Given the description of an element on the screen output the (x, y) to click on. 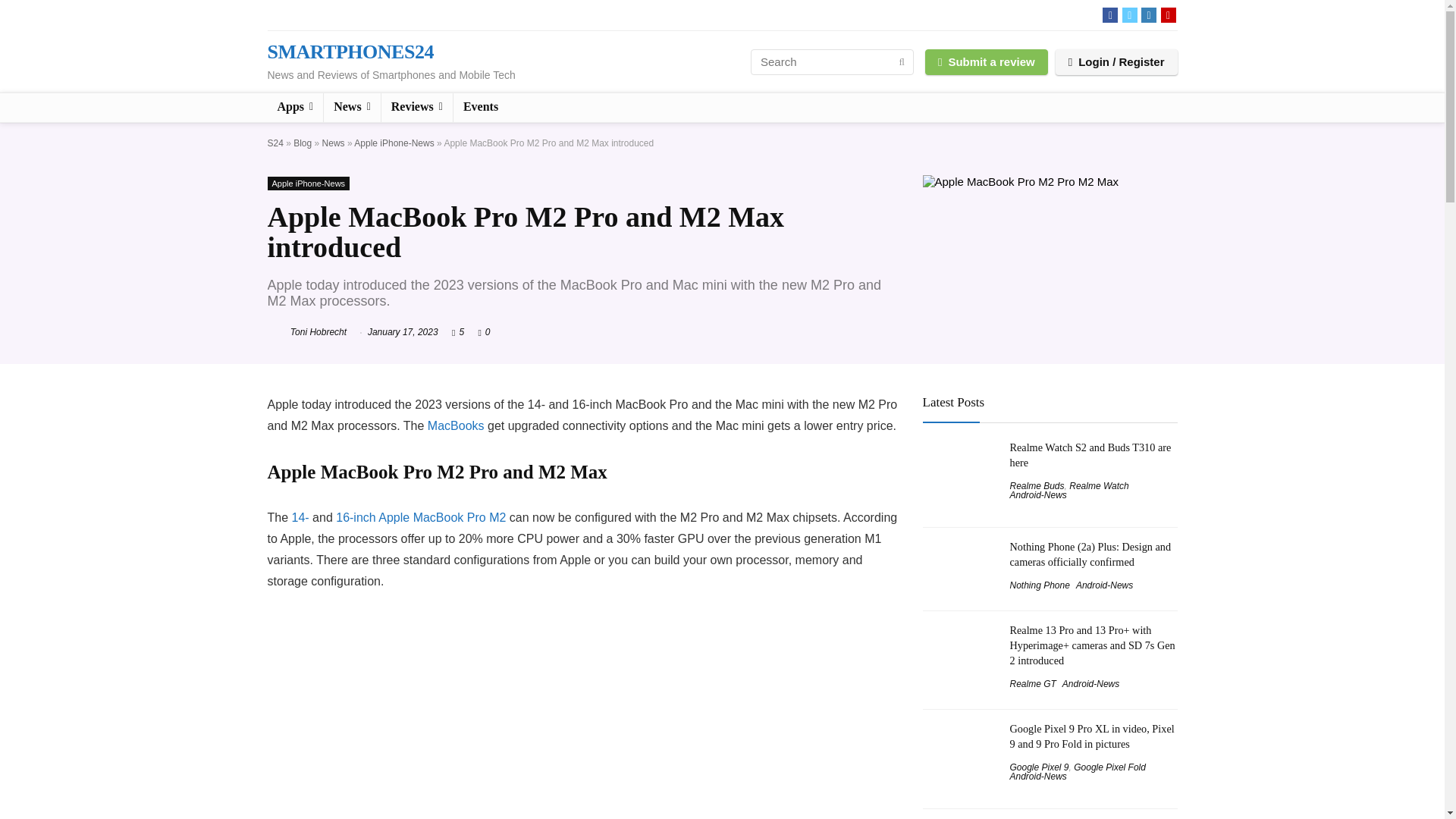
MacBooks (456, 425)
Instagramm (1148, 14)
Youtube (1167, 14)
16-inch Apple MacBook Pro M2 (420, 517)
Submit a review (986, 61)
News (333, 143)
Facebook (1110, 14)
SMARTPHONES24 (349, 51)
Events (480, 107)
News (351, 107)
14- (300, 517)
Reviews (416, 107)
Apple iPhone-News (307, 183)
Toni Hobrecht (306, 331)
Blog (302, 143)
